Given the description of an element on the screen output the (x, y) to click on. 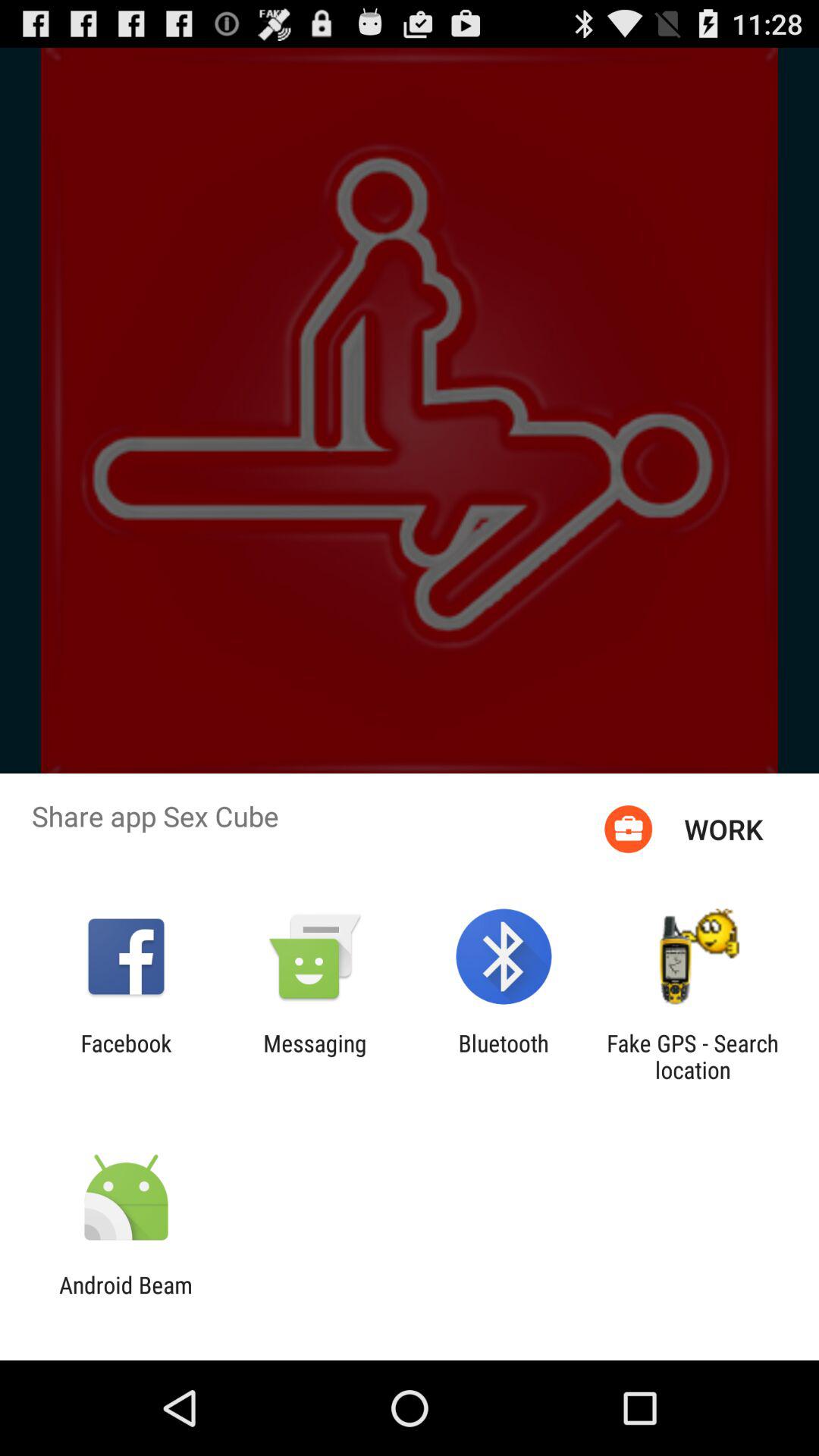
scroll to android beam app (125, 1298)
